Given the description of an element on the screen output the (x, y) to click on. 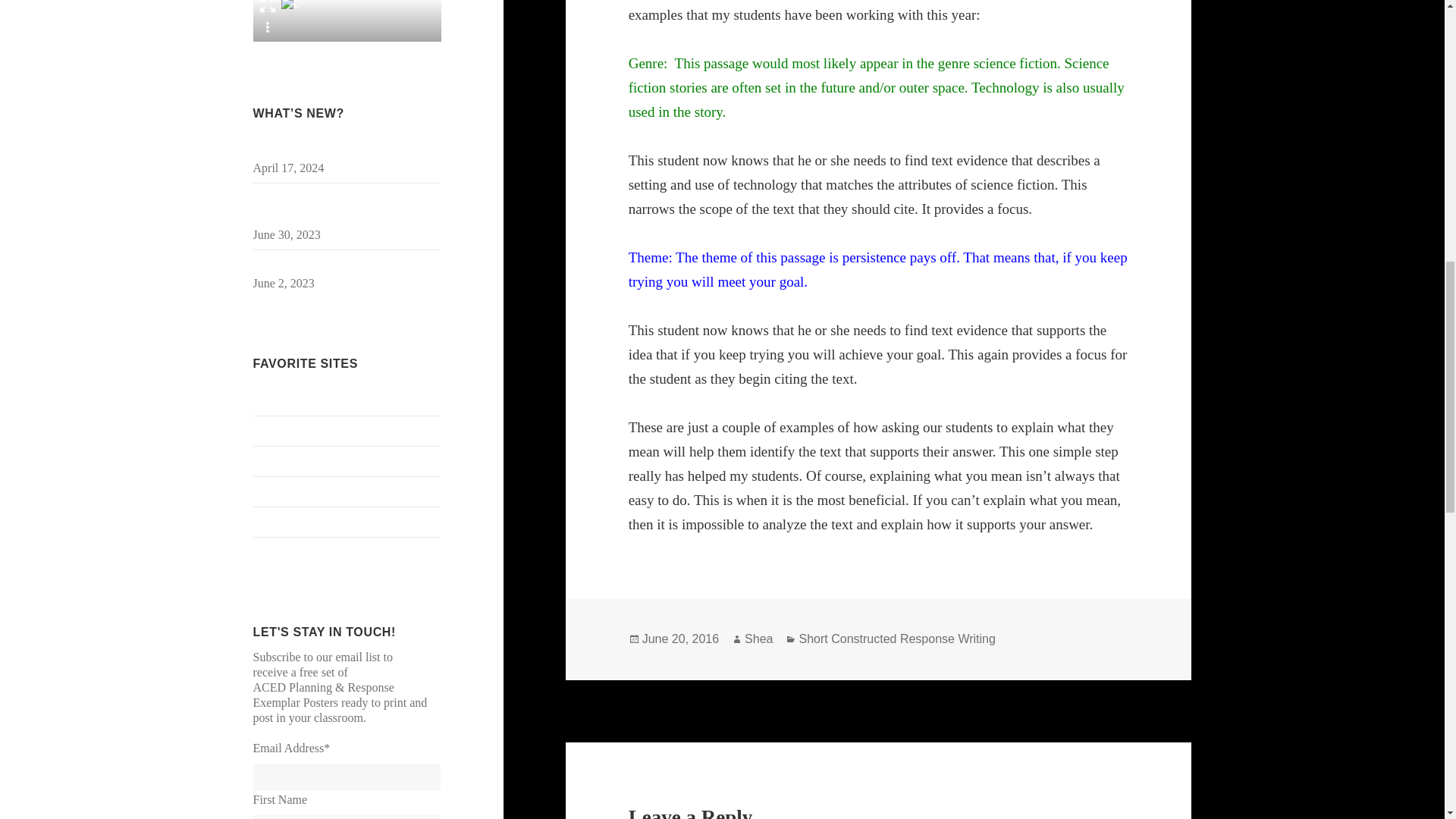
What A Game Changer This Is! (329, 149)
YouTube (275, 551)
Amped Up Learning (303, 399)
Teachers Pay Teachers (307, 521)
There Has To Be A Better Way! (330, 264)
June 20, 2016 (680, 639)
Use Genre To Introduce Literary Analysis! (332, 206)
Pinterest (274, 490)
Facebook (276, 430)
Shea (758, 639)
